Given the description of an element on the screen output the (x, y) to click on. 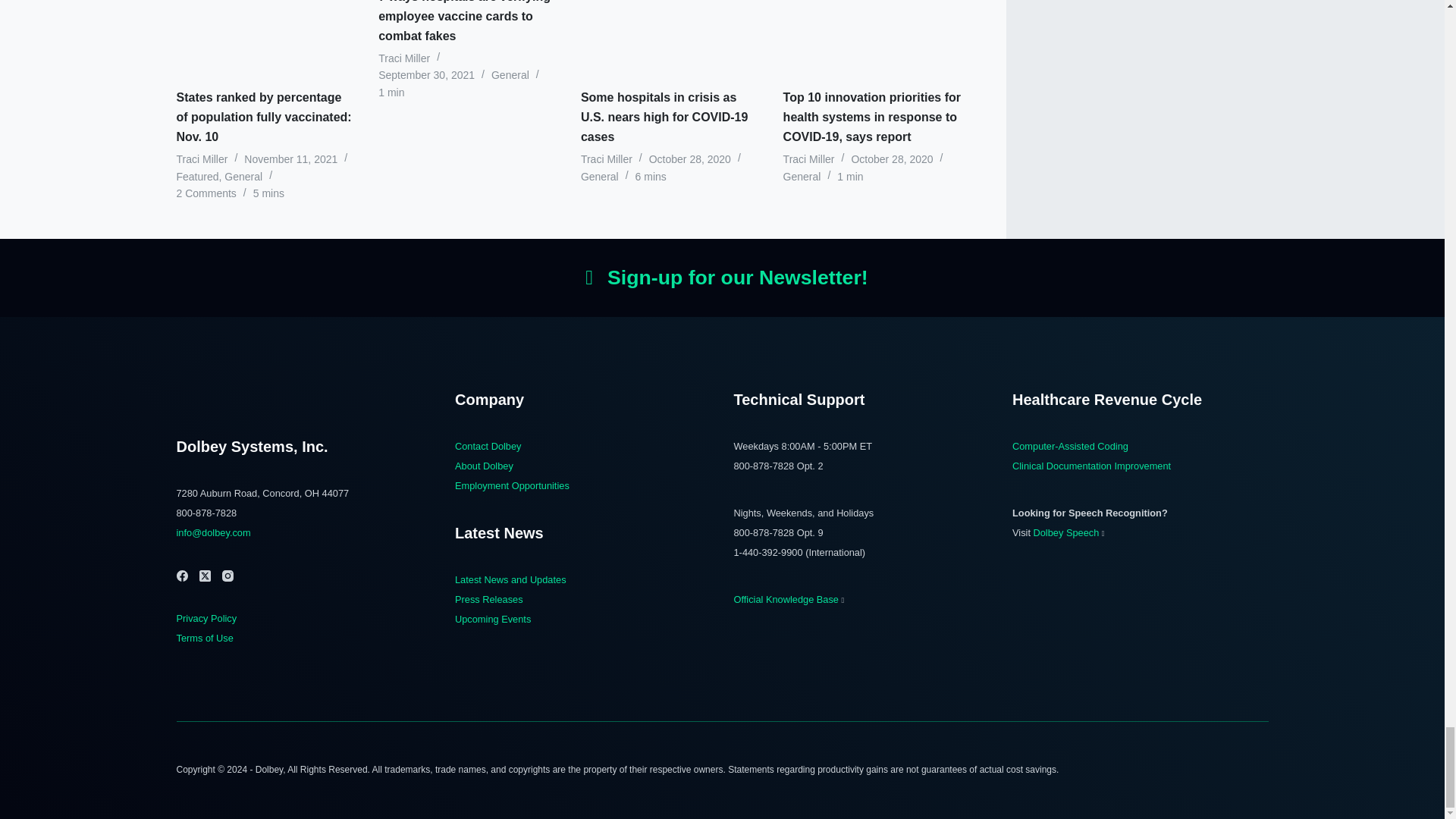
Posts by Traci Miller (808, 159)
Posts by Traci Miller (403, 58)
Posts by Traci Miller (201, 159)
Posts by Traci Miller (605, 159)
